Given the description of an element on the screen output the (x, y) to click on. 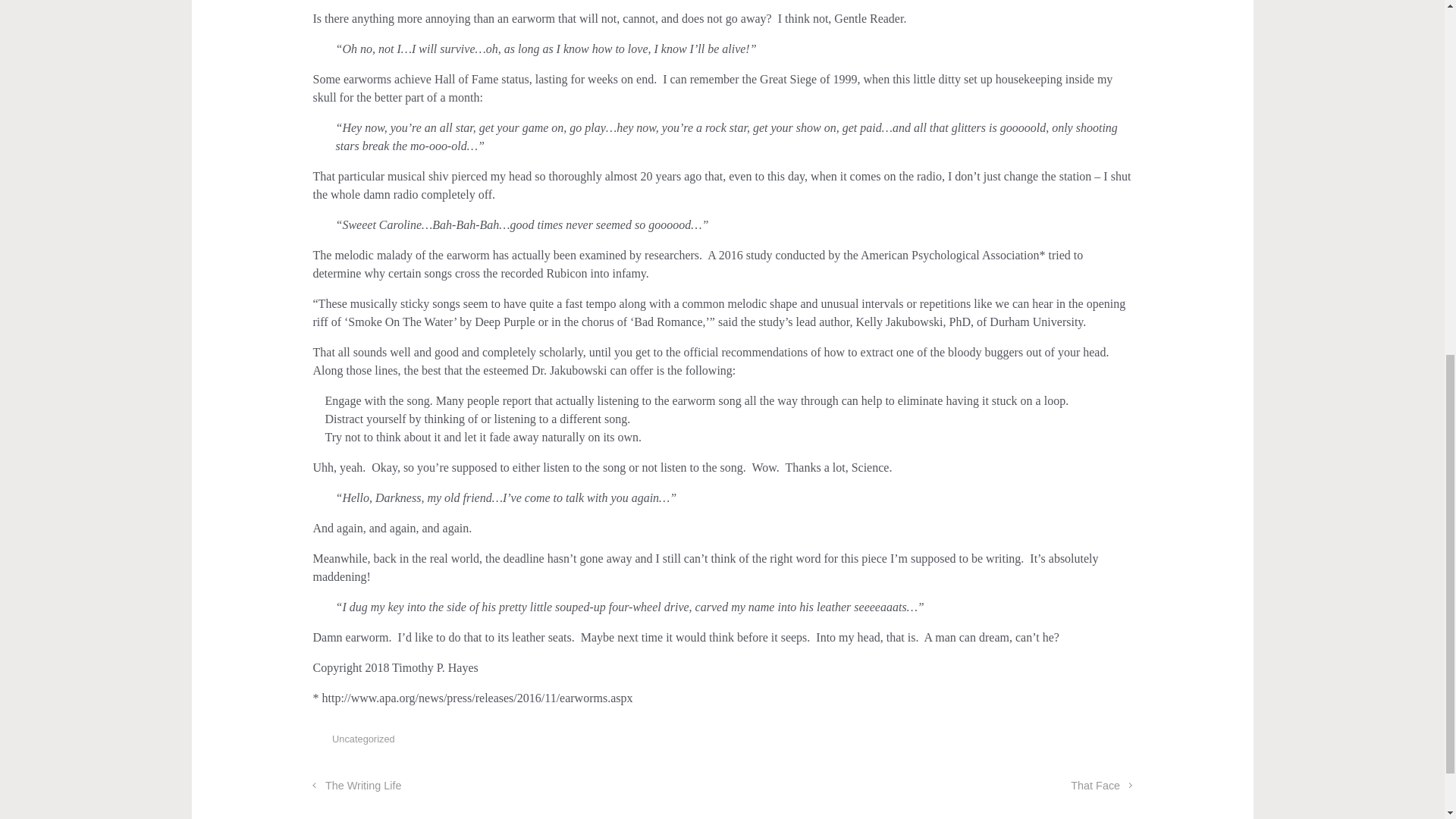
That Face (1100, 785)
Uncategorized (362, 738)
The Writing Life (357, 785)
